Given the description of an element on the screen output the (x, y) to click on. 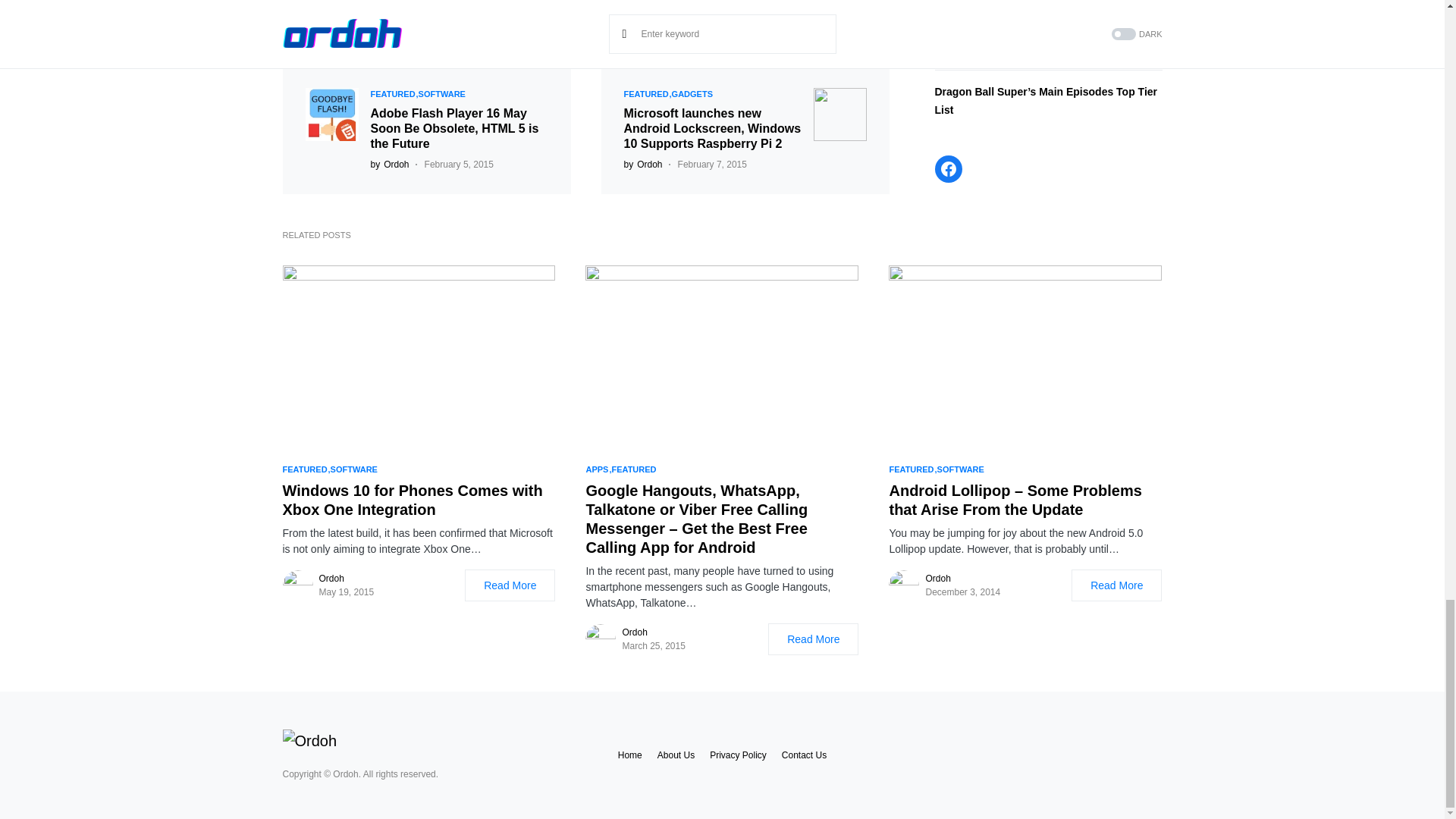
View all posts by Ordoh (389, 164)
View all posts by Ordoh (642, 164)
